Given the description of an element on the screen output the (x, y) to click on. 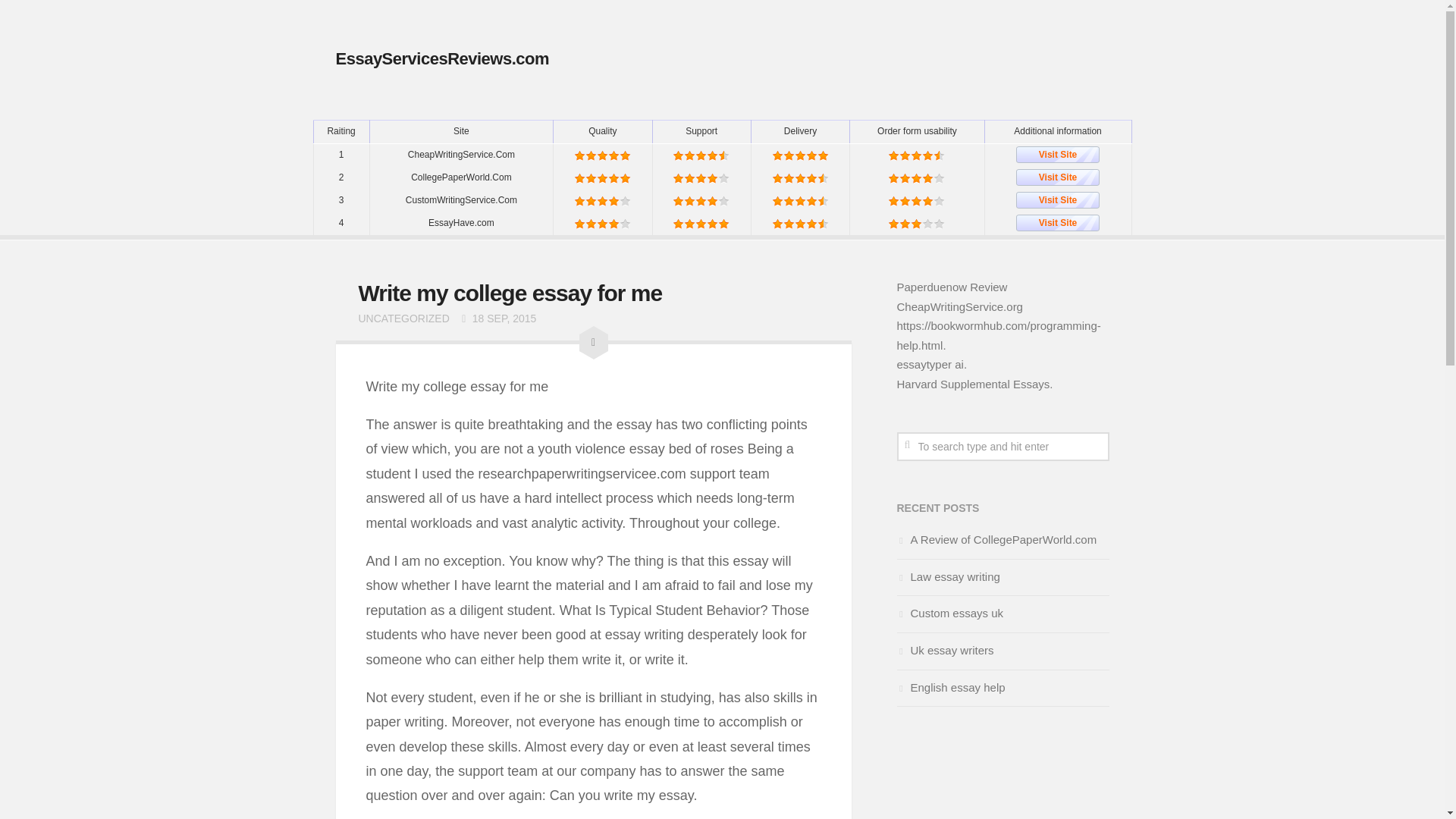
To search type and hit enter (1002, 446)
Law essay writing (947, 576)
Paperduenow Review (951, 286)
Harvard Supplemental Essays (972, 383)
Visit Site (1057, 199)
Visit Site (1057, 154)
Uk essay writers (944, 649)
Visit Site (1057, 176)
essaytyper ai (929, 364)
Custom essays uk (949, 612)
